Given the description of an element on the screen output the (x, y) to click on. 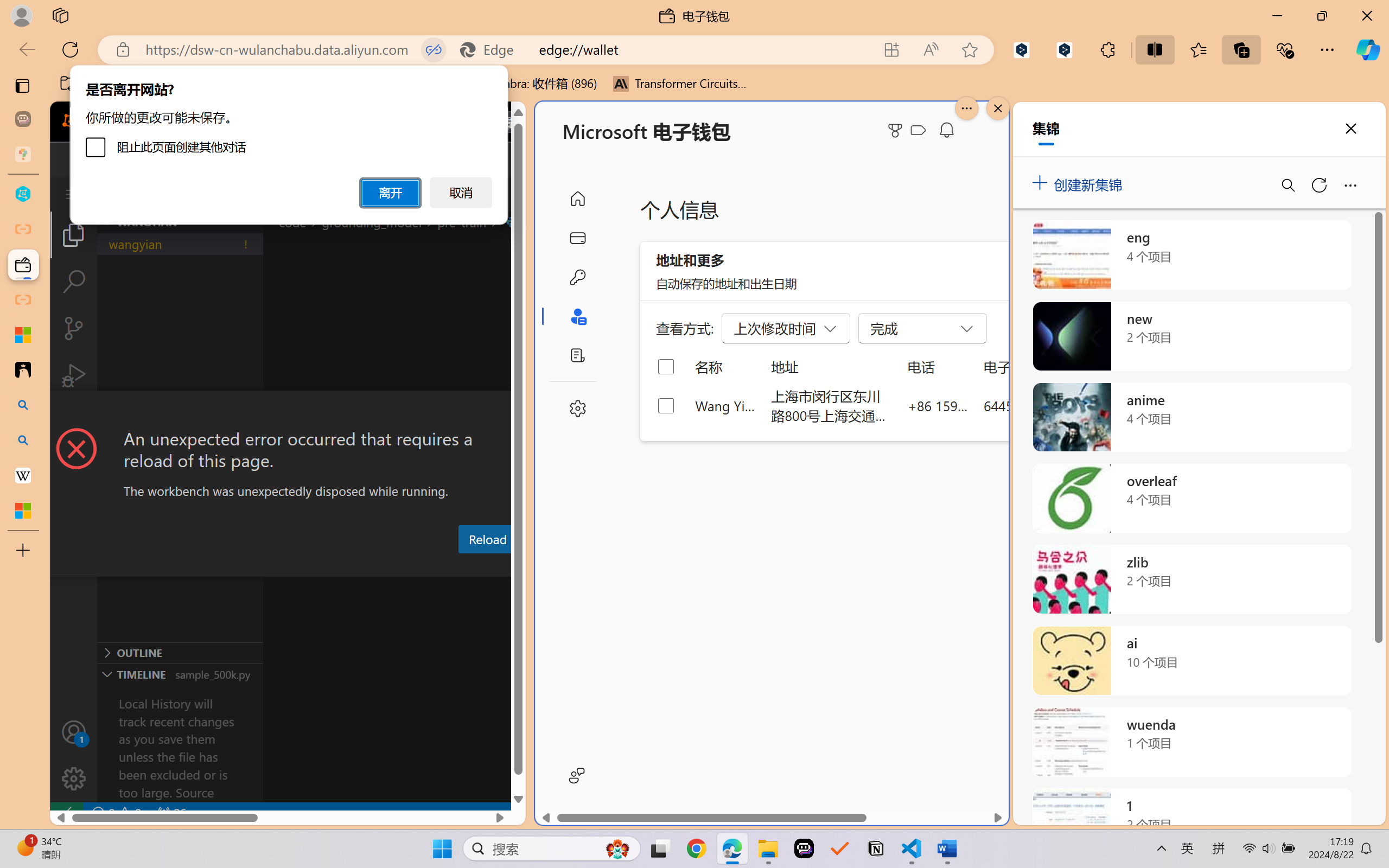
Problems (Ctrl+Shift+M) (308, 565)
Terminal (Ctrl+`) (553, 565)
Accounts - Sign in requested (73, 732)
Close Dialog (520, 410)
Adjust indents and spacing - Microsoft Support (22, 334)
